Given the description of an element on the screen output the (x, y) to click on. 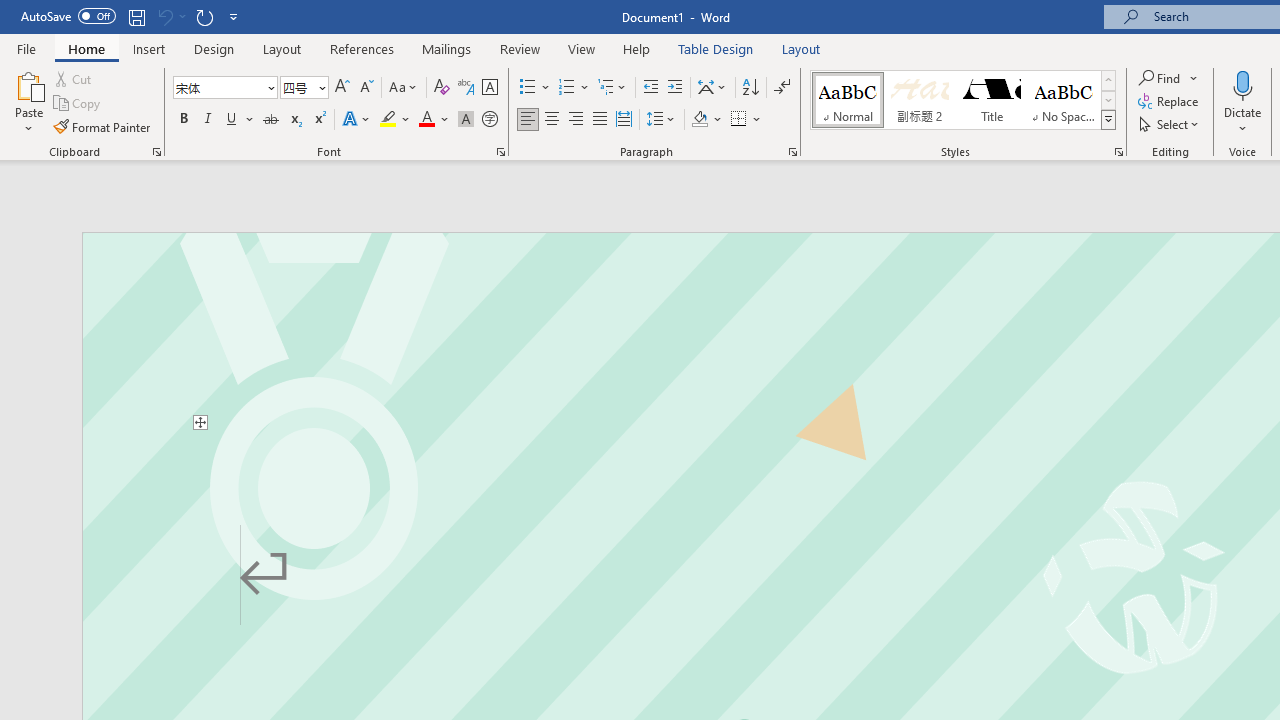
Align Right (575, 119)
Font Color Red (426, 119)
Cut (73, 78)
Text Effects and Typography (357, 119)
